Given the description of an element on the screen output the (x, y) to click on. 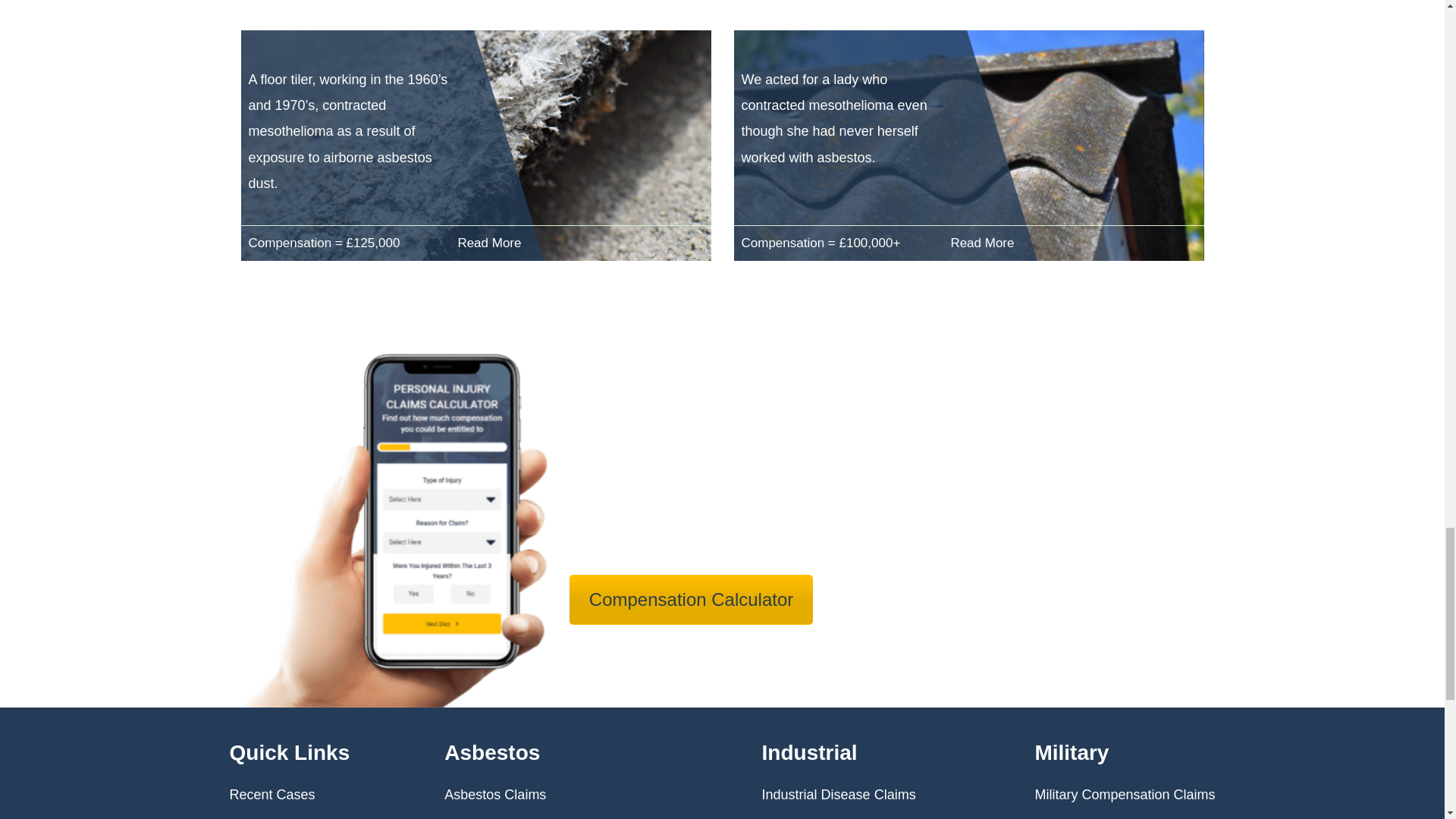
ASBESTOS (968, 145)
Personal Injury Claims Calculator (690, 599)
ASBESTOS-3 (476, 145)
